Given the description of an element on the screen output the (x, y) to click on. 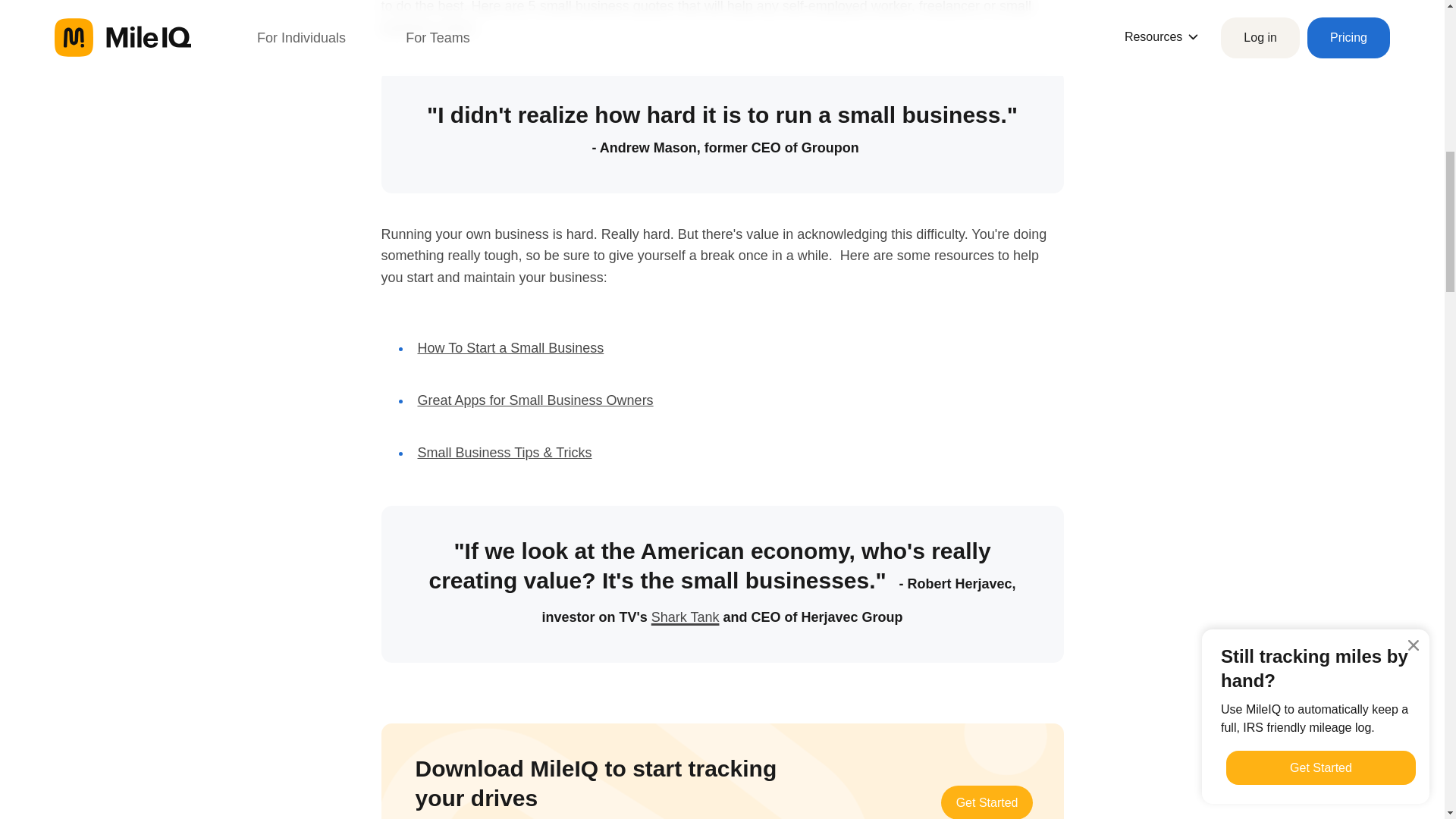
Great Apps for Small Business Owners (534, 400)
How To Start a Small Business (510, 347)
Shark Tank (684, 613)
Get Started (986, 802)
